Given the description of an element on the screen output the (x, y) to click on. 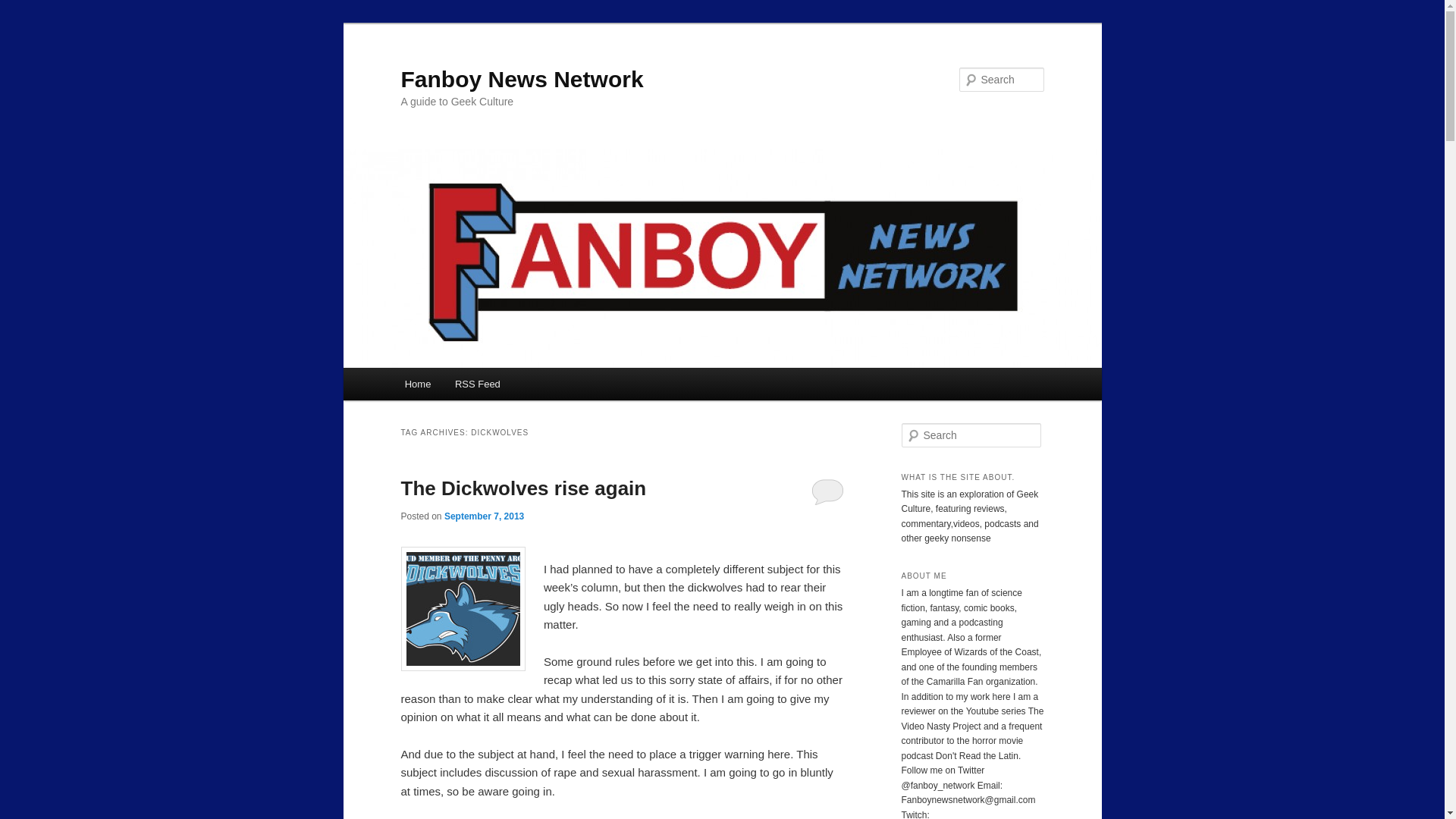
Search (24, 8)
September 7, 2013 (484, 516)
The Dickwolves rise again (523, 487)
Home (417, 383)
RSS Feed (477, 383)
Fanboy News Network (521, 78)
Search (21, 11)
7:59 AM (484, 516)
